Given the description of an element on the screen output the (x, y) to click on. 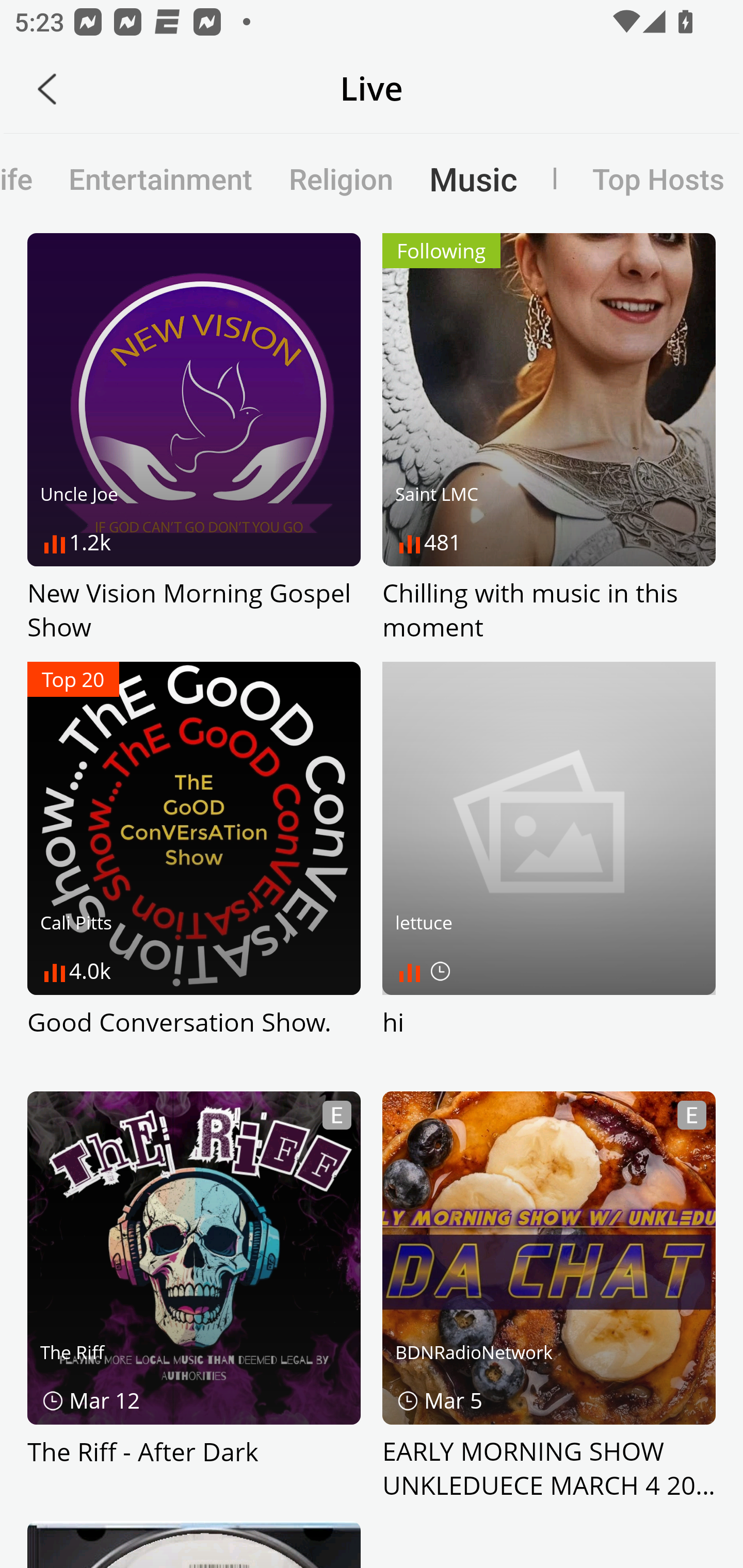
Back (46, 88)
Entertainment (160, 178)
Religion (340, 178)
Top Hosts (639, 178)
Uncle Joe 1.2k New Vision Morning Gospel Show (193, 438)
Top 20 Cali Pitts 4.0k Good Conversation Show. (193, 867)
lettuce hi (548, 867)
The Riff Mar 12 The Riff - After Dark (193, 1297)
